Given the description of an element on the screen output the (x, y) to click on. 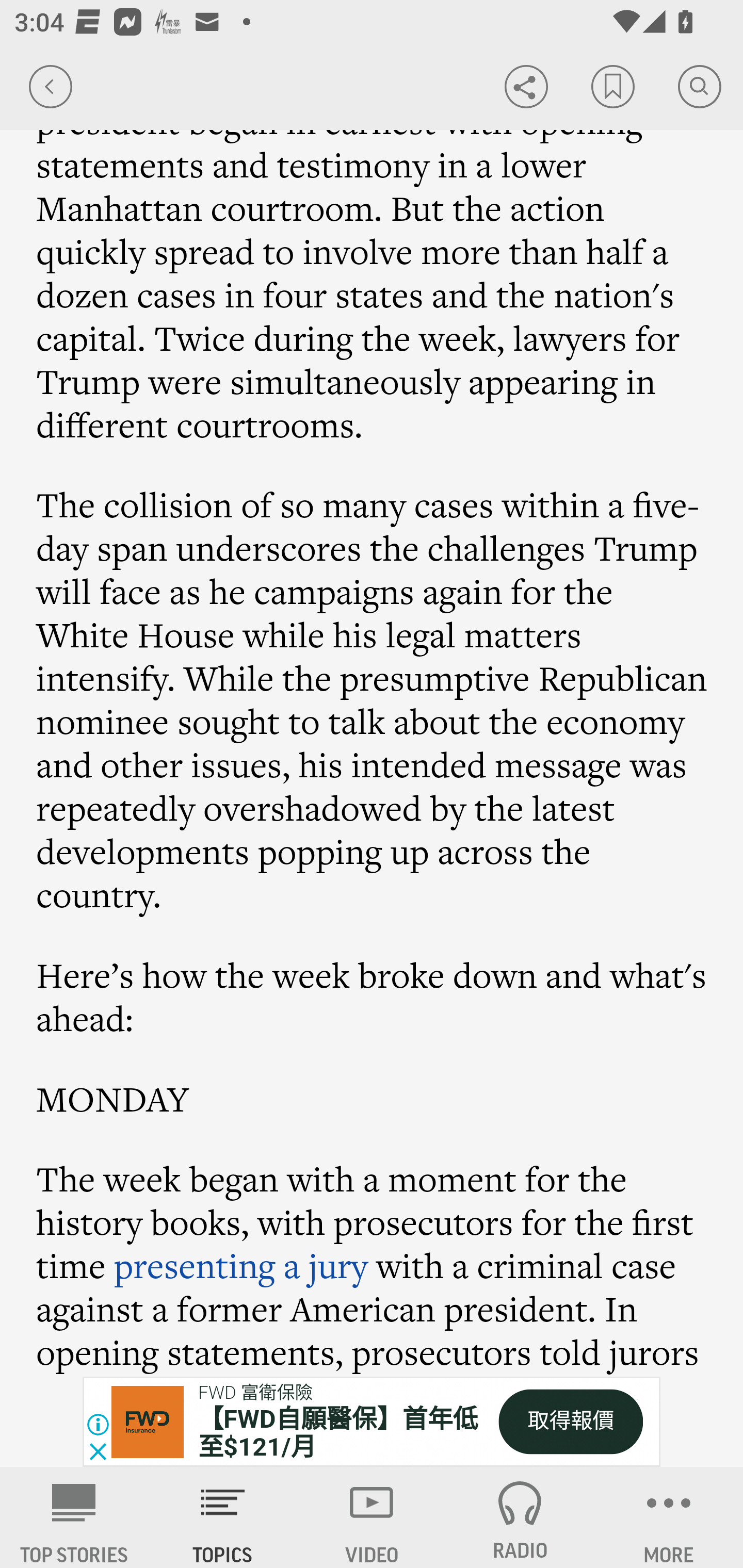
presenting a jury (240, 1264)
AP News TOP STORIES (74, 1517)
TOPICS (222, 1517)
VIDEO (371, 1517)
RADIO (519, 1517)
MORE (668, 1517)
